Given the description of an element on the screen output the (x, y) to click on. 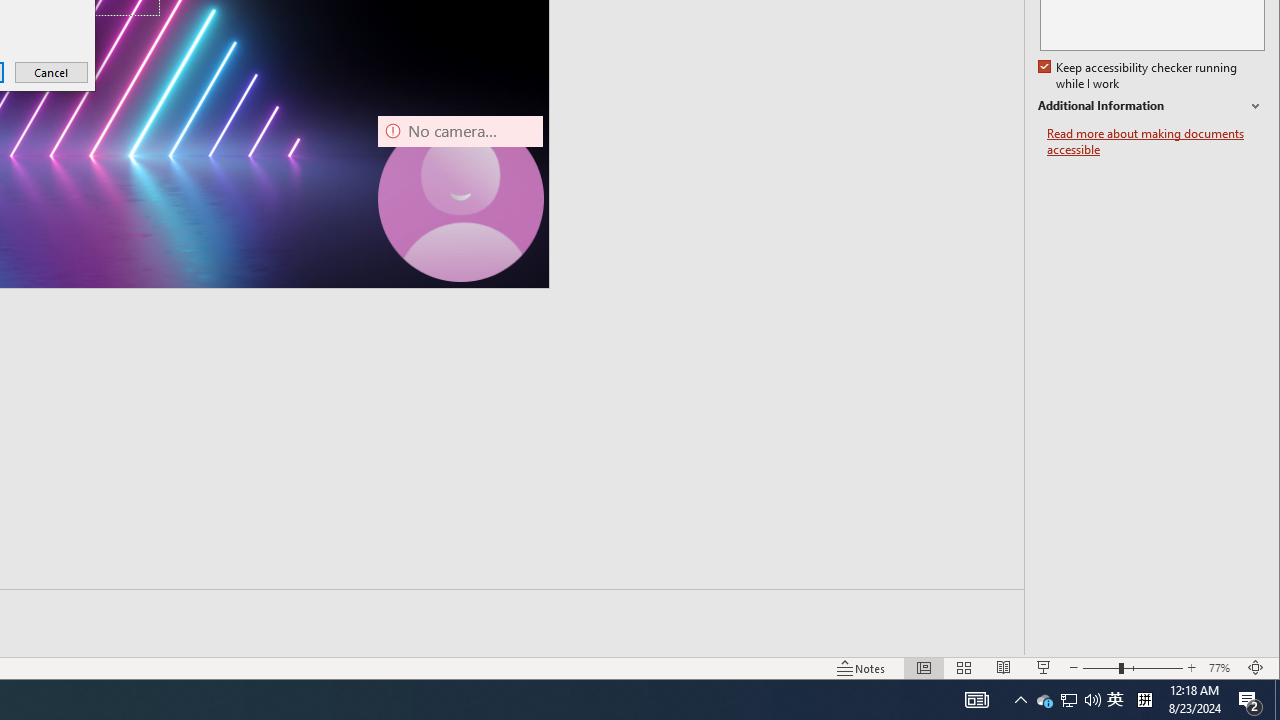
Camera 7, No camera detected. (460, 197)
Read more about making documents accessible (1044, 699)
